Given the description of an element on the screen output the (x, y) to click on. 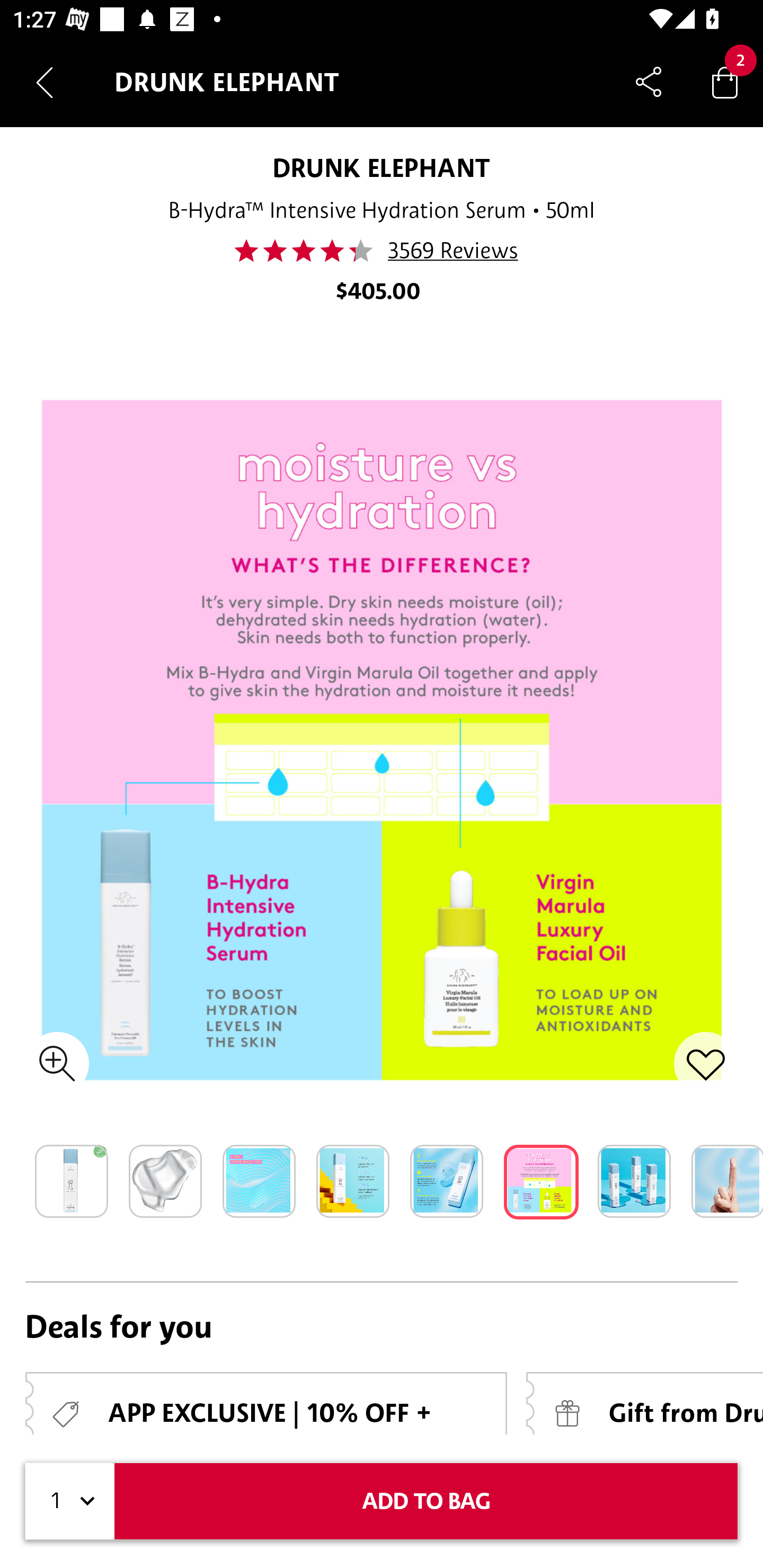
Navigate up (44, 82)
Share (648, 81)
Bag (724, 81)
DRUNK ELEPHANT (381, 167)
43.0 3569 Reviews (381, 250)
1 (69, 1500)
ADD TO BAG (425, 1500)
